Given the description of an element on the screen output the (x, y) to click on. 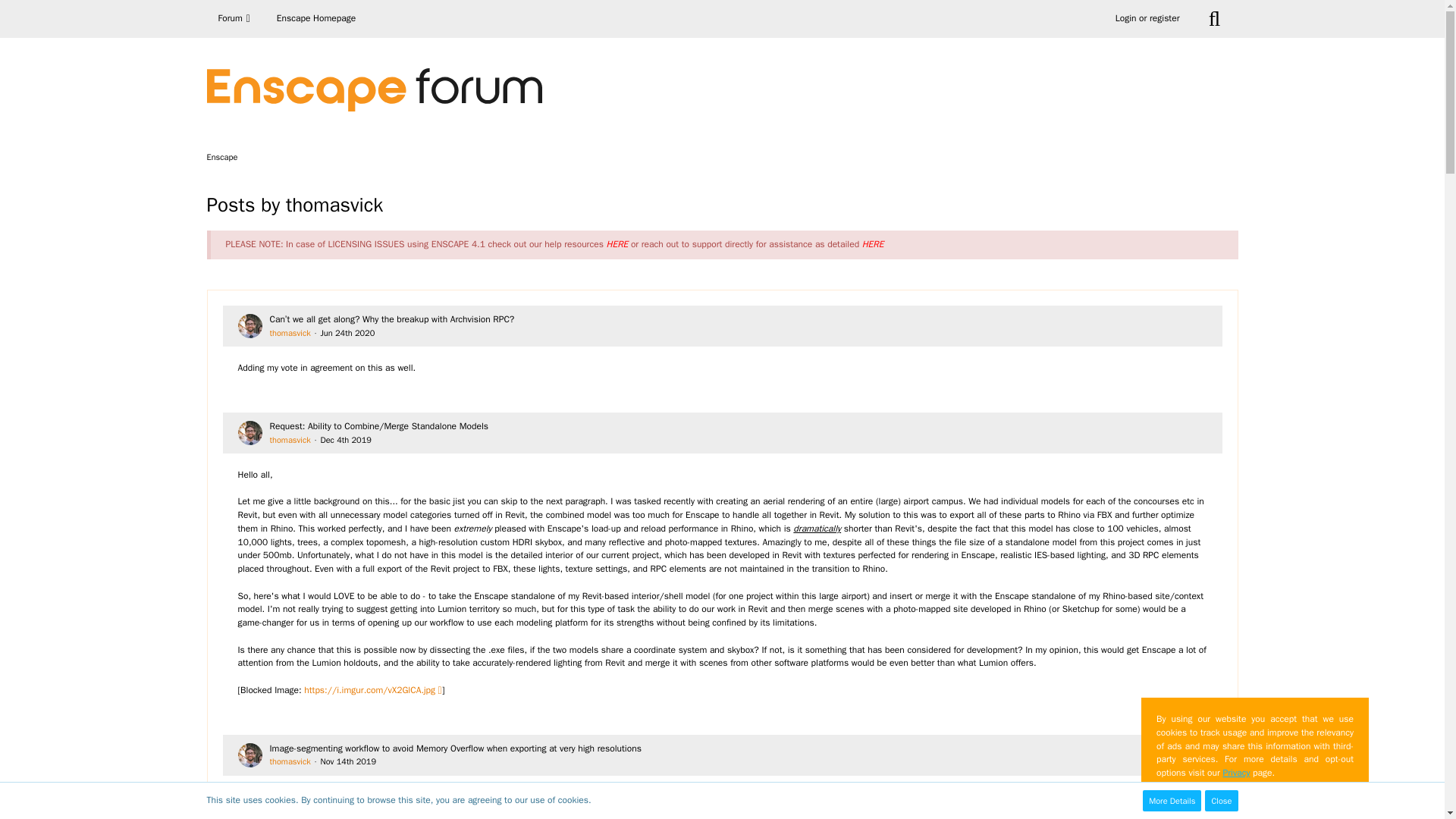
HERE (617, 244)
thomasvick (290, 332)
Login or register (1147, 18)
Enscape (221, 156)
Nov 14th 2019 (347, 760)
thomasvick (290, 760)
Jun 24th 2020 (347, 332)
